Given the description of an element on the screen output the (x, y) to click on. 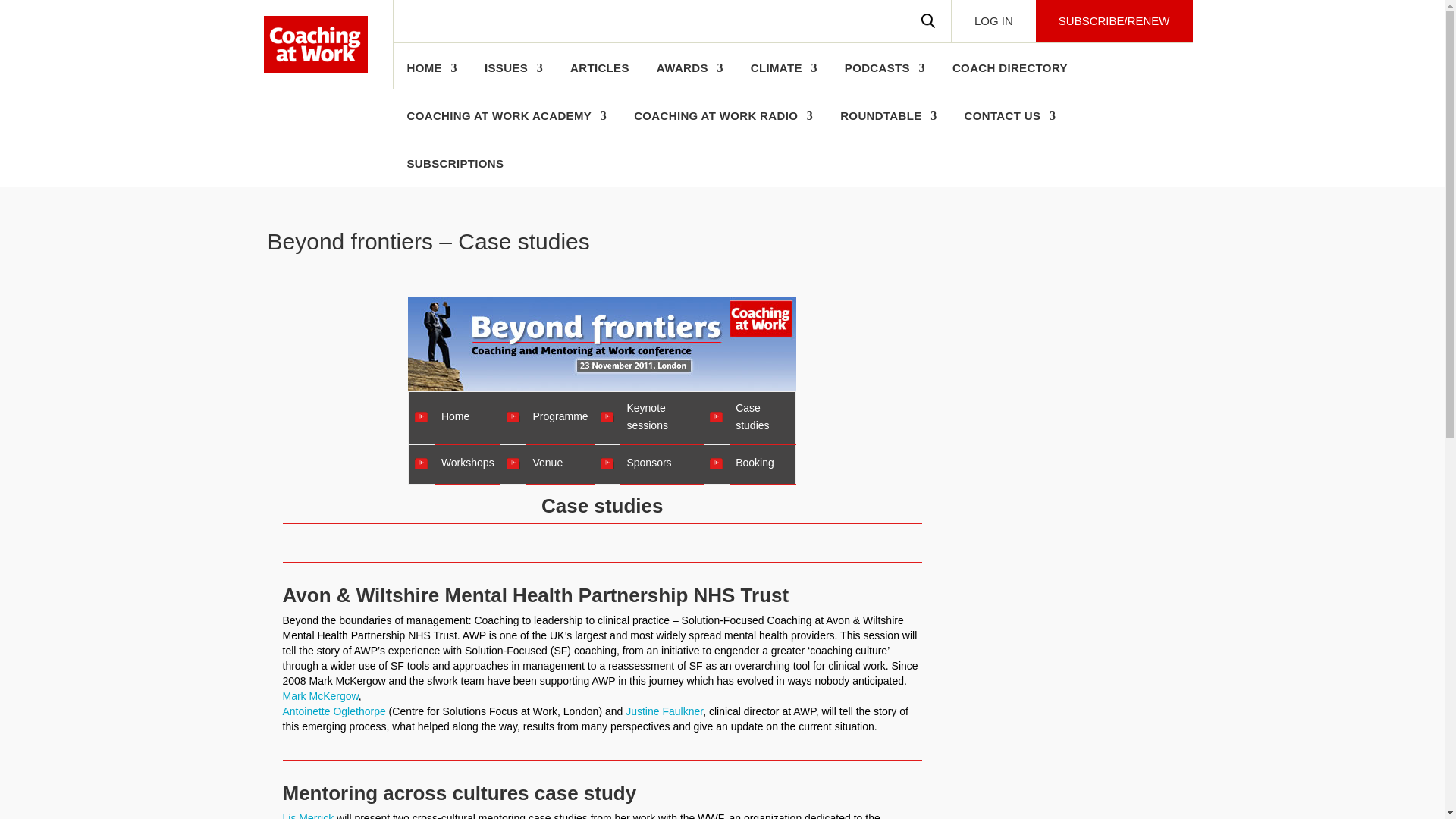
CLIMATE (783, 76)
LOG IN (992, 21)
AWARDS (689, 76)
ARTICLES (599, 76)
ISSUES (513, 76)
HOME (431, 76)
SEARCH (927, 21)
